Given the description of an element on the screen output the (x, y) to click on. 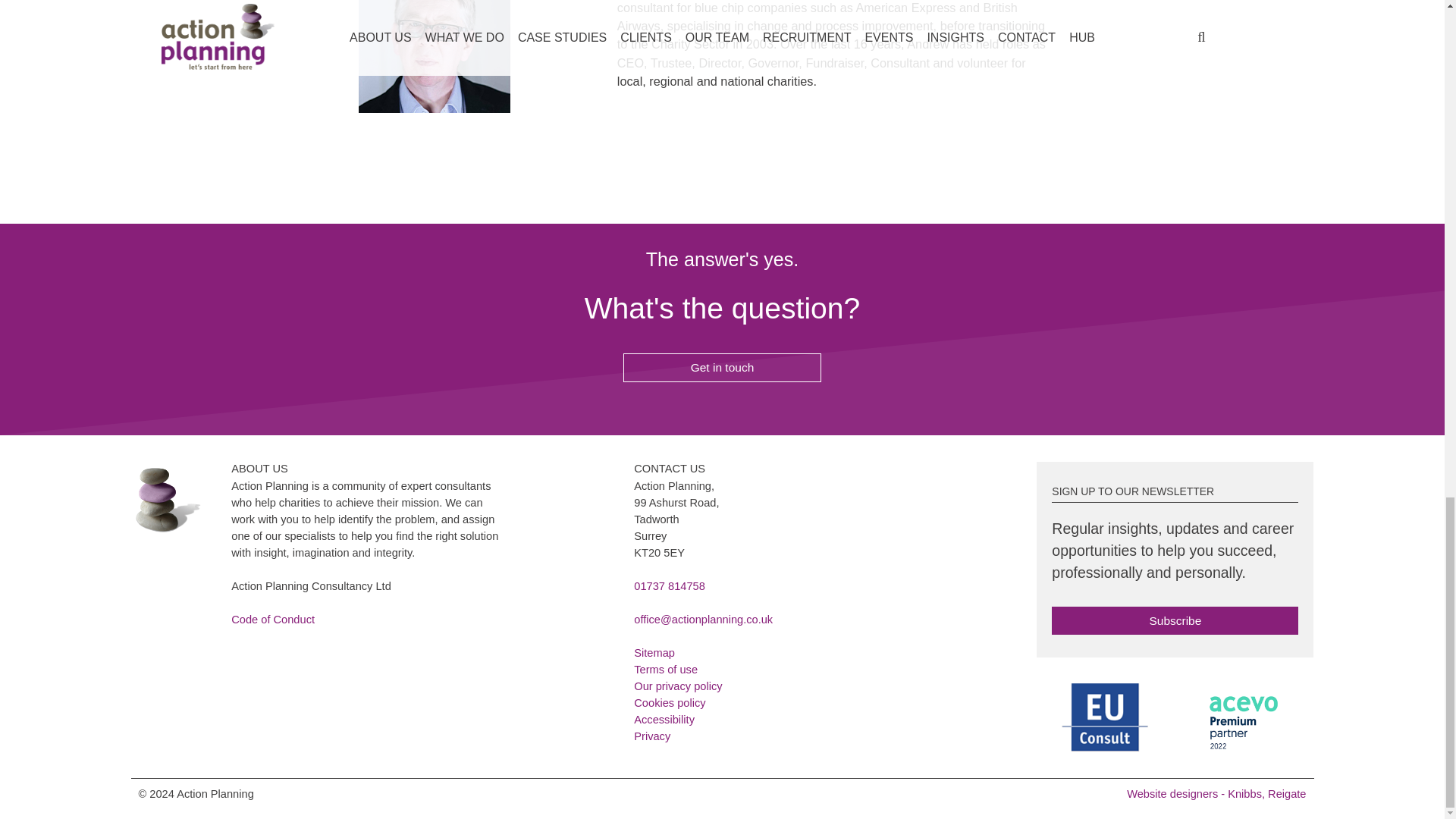
Terms of use (665, 669)
Sitemap (654, 653)
Subscribe (1174, 620)
01737 814758 (668, 585)
Privacy (651, 736)
Code of Conduct (272, 619)
Subscribe (1174, 619)
Accessibility (663, 719)
Cookies policy (668, 702)
Andrew Johnson (434, 56)
Get in touch (722, 367)
Our privacy policy (677, 686)
Website designers - Knibbs, Reigate (1216, 793)
